Given the description of an element on the screen output the (x, y) to click on. 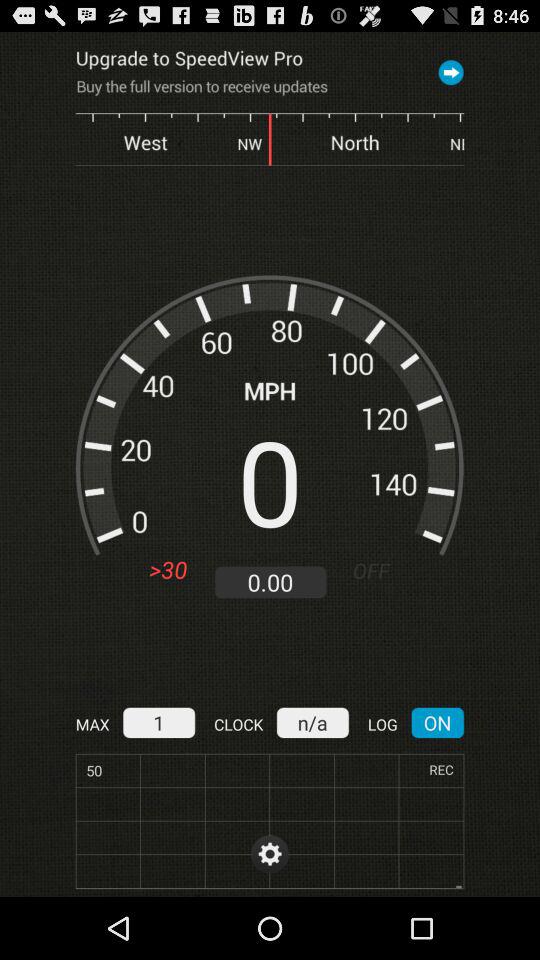
turn on item to the right of the log (437, 722)
